Given the description of an element on the screen output the (x, y) to click on. 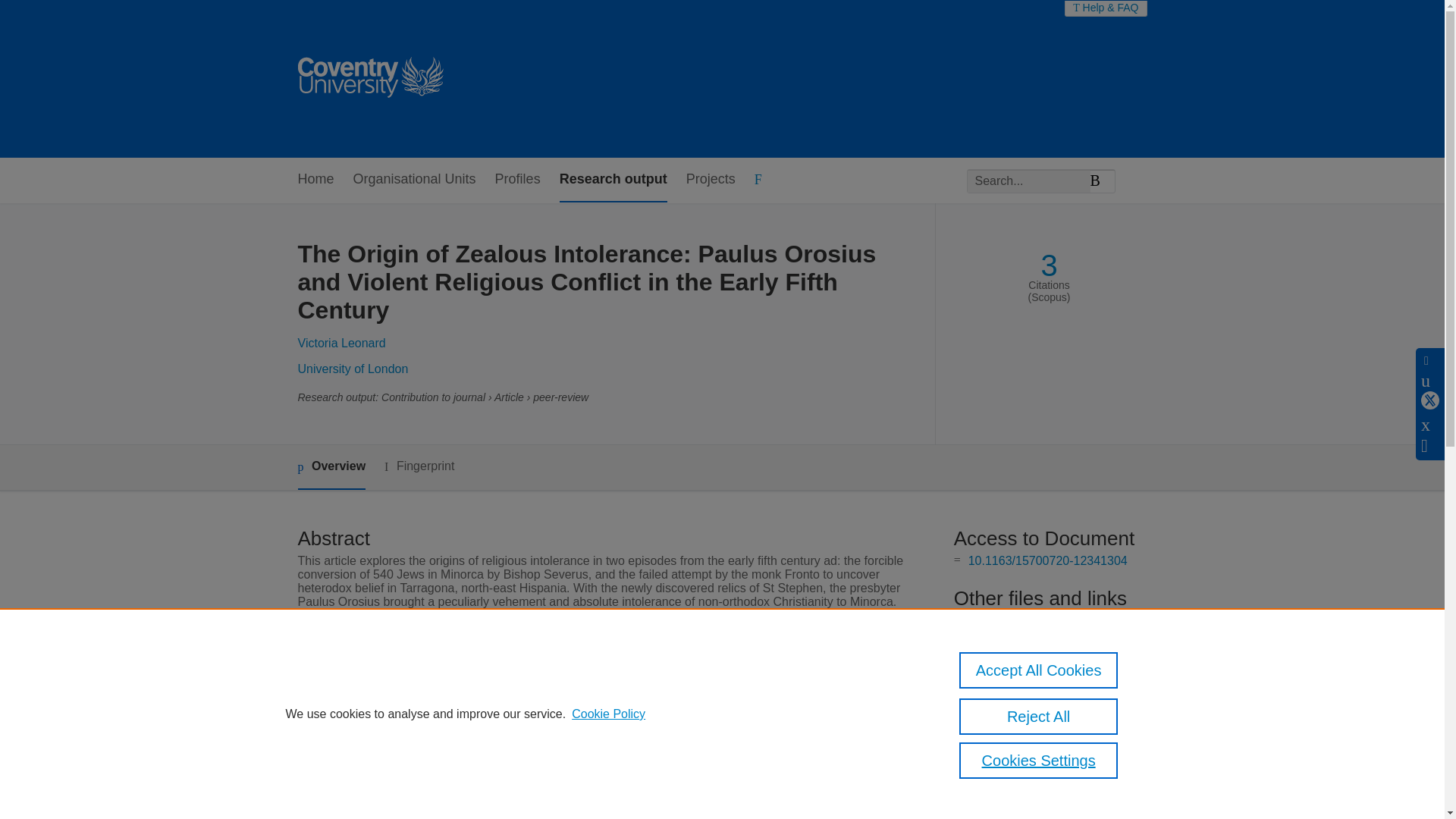
Overview (331, 467)
University of London (352, 368)
Research output (612, 180)
Fingerprint (419, 466)
Vigiliae Christianae (562, 747)
Profiles (517, 180)
Organisational Units (414, 180)
Victoria Leonard (341, 342)
Projects (710, 180)
Coventry University Home (369, 78)
